Given the description of an element on the screen output the (x, y) to click on. 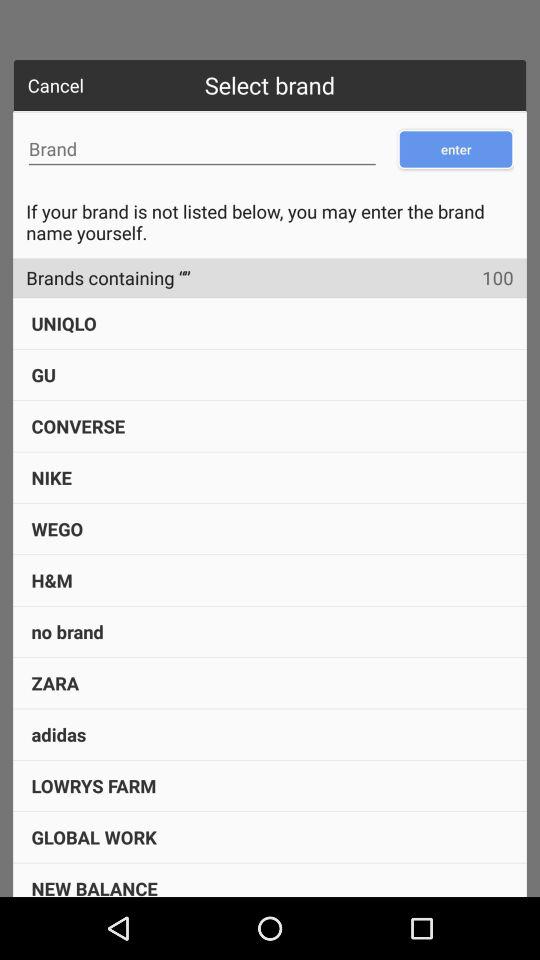
select the item above the adidas icon (55, 682)
